Given the description of an element on the screen output the (x, y) to click on. 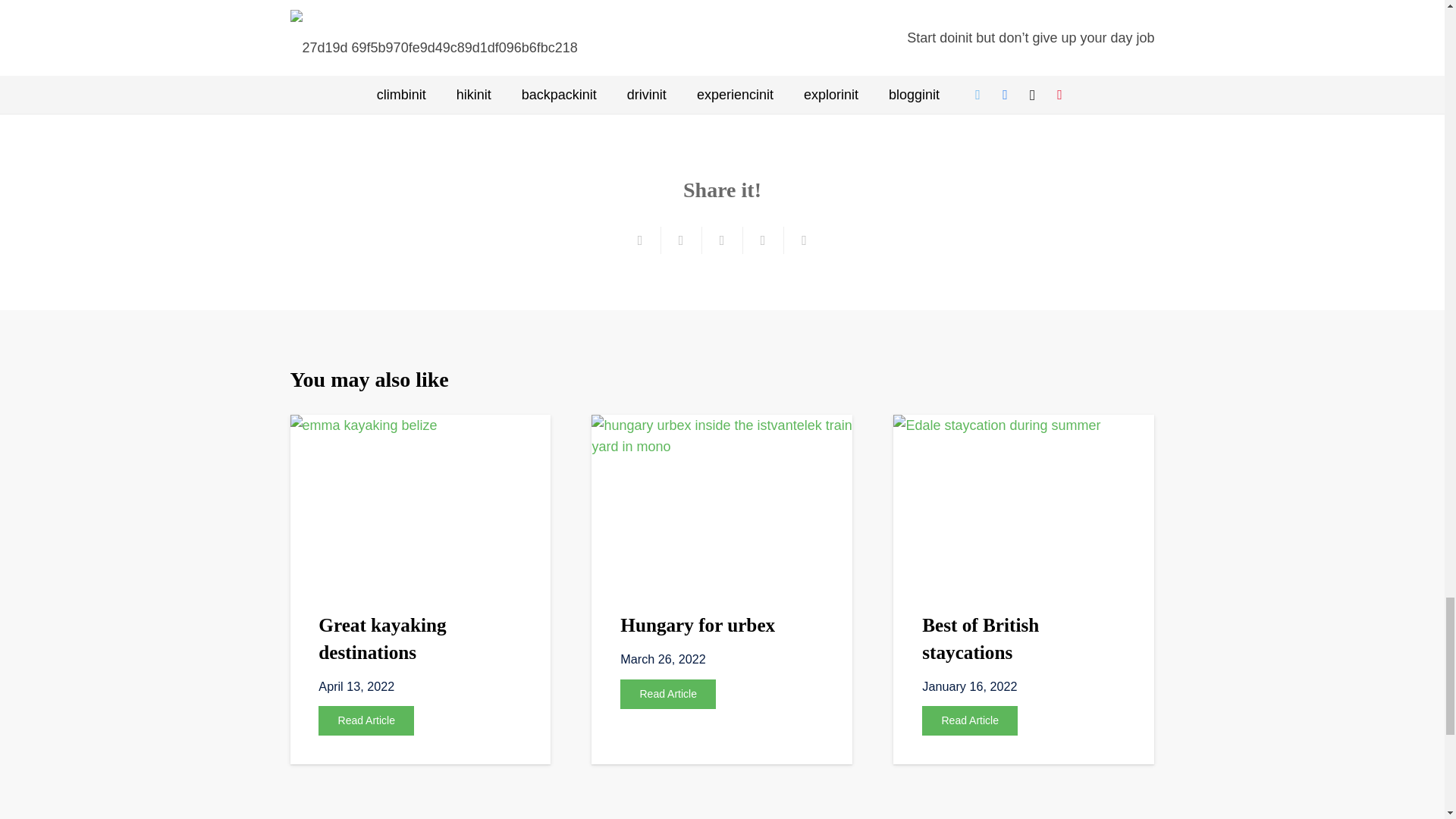
Share this (681, 239)
Tweet this (721, 239)
Share this (763, 239)
Email this (640, 239)
